Given the description of an element on the screen output the (x, y) to click on. 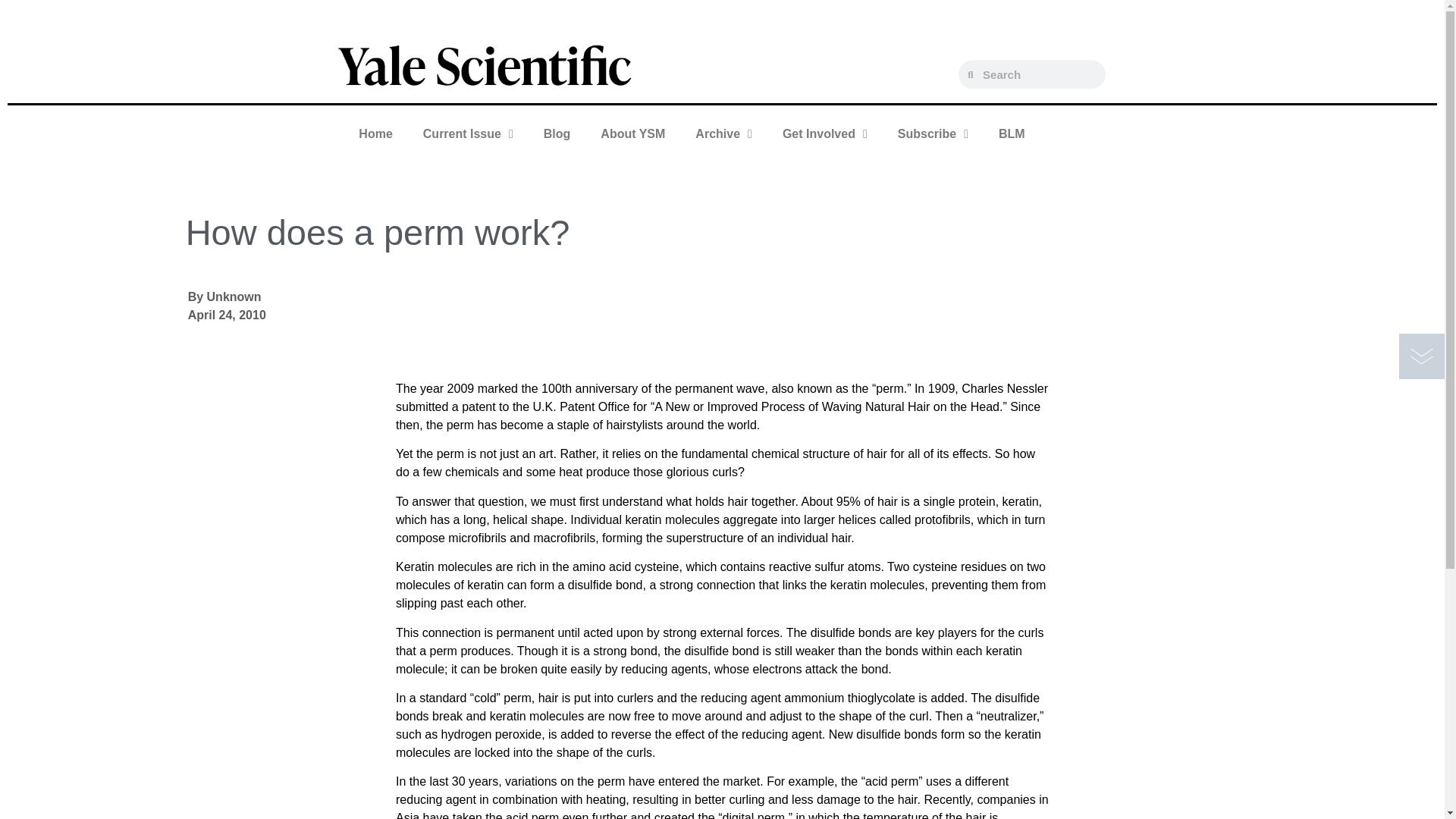
Get Involved (824, 134)
About YSM (632, 134)
BLM (1012, 134)
Home (375, 134)
cropped-YSM-Wordmark-Only-Black-High-Res.png (484, 64)
Archive (723, 134)
Subscribe (933, 134)
Blog (557, 134)
Current Issue (467, 134)
